Given the description of an element on the screen output the (x, y) to click on. 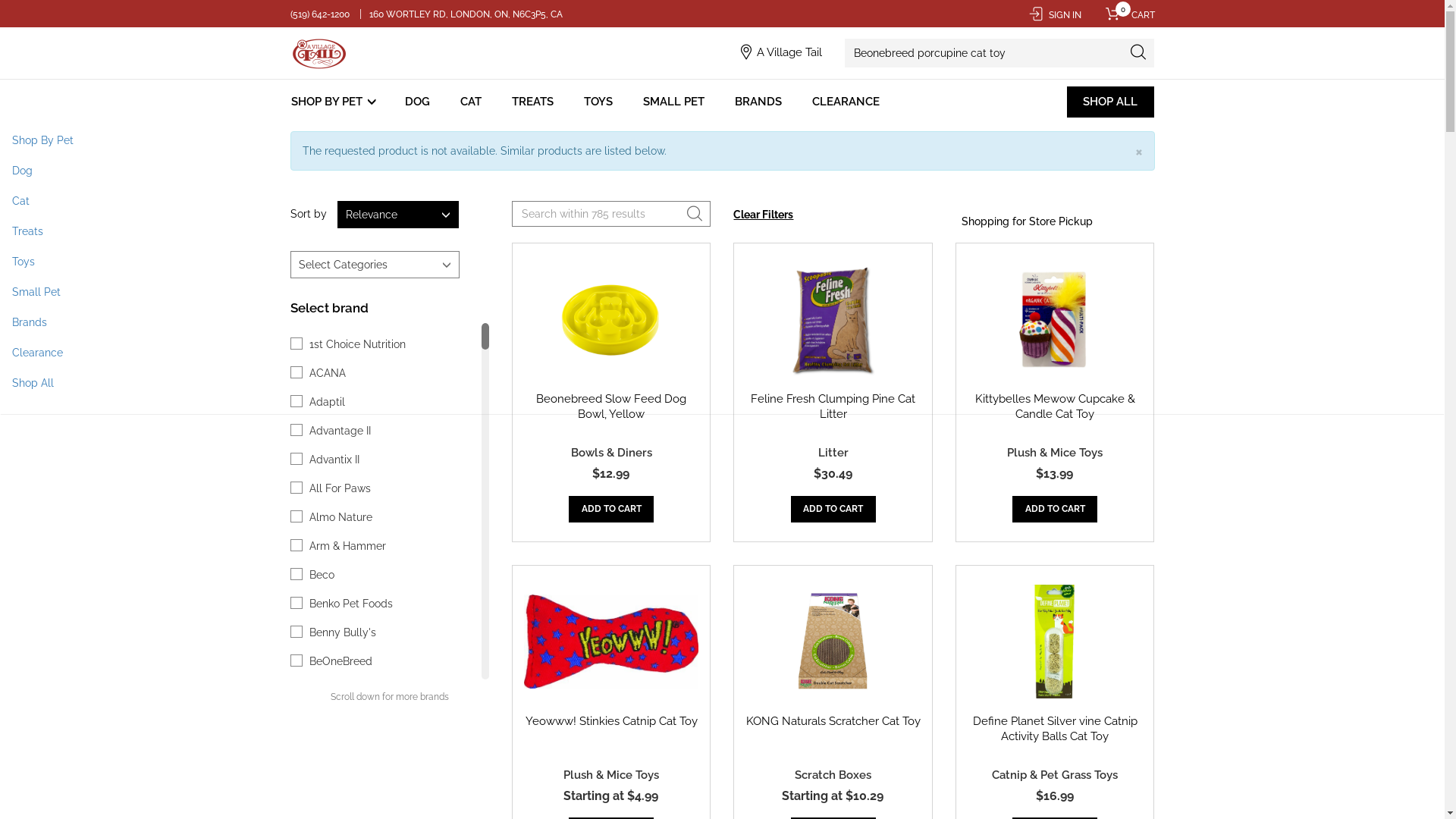
TOYS Element type: text (597, 101)
BeOneBreed Element type: text (340, 661)
A Village Tail Element type: text (789, 52)
ADD TO CART Element type: text (1054, 508)
SHOP BY PET Element type: text (334, 101)
Cat Element type: text (721, 200)
(519) 642-1200 Element type: text (320, 14)
Yeowww! Stinkies Catnip Cat Toy Element type: text (611, 721)
Bocce's Bakery Element type: text (347, 747)
ADD TO CART Element type: text (610, 508)
Dog Element type: text (721, 170)
Define Planet Silver vine Catnip Activity Balls Cat Toy Element type: text (1054, 728)
Brands Element type: text (721, 322)
Adaptil Element type: text (327, 401)
BRANDS Element type: text (758, 101)
KONG Naturals Scratcher Cat Toy Element type: text (833, 721)
Feline Fresh Clumping Pine Cat Litter Element type: text (832, 406)
SHOP ALL Element type: text (1109, 101)
Beco Element type: text (321, 574)
Clearance Element type: text (721, 352)
Treats Element type: text (721, 231)
Select Categories Element type: text (373, 264)
Bosco & Roxy's Element type: text (346, 805)
Benny Bully's Element type: text (342, 632)
Shop By Pet Element type: text (721, 140)
ADD TO CART Element type: text (832, 508)
Toys Element type: text (721, 261)
Shop All Element type: text (721, 382)
Arm & Hammer Element type: text (347, 545)
Advantage II Element type: text (339, 430)
Clear Filters Element type: text (763, 214)
Small Pet Element type: text (721, 291)
0 CART Element type: text (1125, 14)
CLEARANCE Element type: text (845, 101)
Bluestem Element type: text (332, 718)
Almo Nature Element type: text (340, 517)
160 WORTLEY RD, LONDON, ON, N6C3P5, CA Element type: text (466, 14)
Kittybelles Mewow Cupcake & Candle Cat Toy Element type: text (1055, 406)
TREATS Element type: text (532, 101)
DOG Element type: text (416, 101)
SMALL PET Element type: text (672, 101)
SIGN IN Element type: text (1054, 14)
CAT Element type: text (470, 101)
Beonebreed Slow Feed Dog Bowl, Yellow Element type: text (611, 406)
Advantix II Element type: text (334, 459)
ACANA Element type: text (327, 373)
Benko Pet Foods Element type: text (350, 603)
1st Choice Nutrition Element type: text (357, 344)
All For Paws Element type: text (339, 488)
Relevance Element type: text (397, 214)
Boreal Element type: text (325, 776)
